Given the description of an element on the screen output the (x, y) to click on. 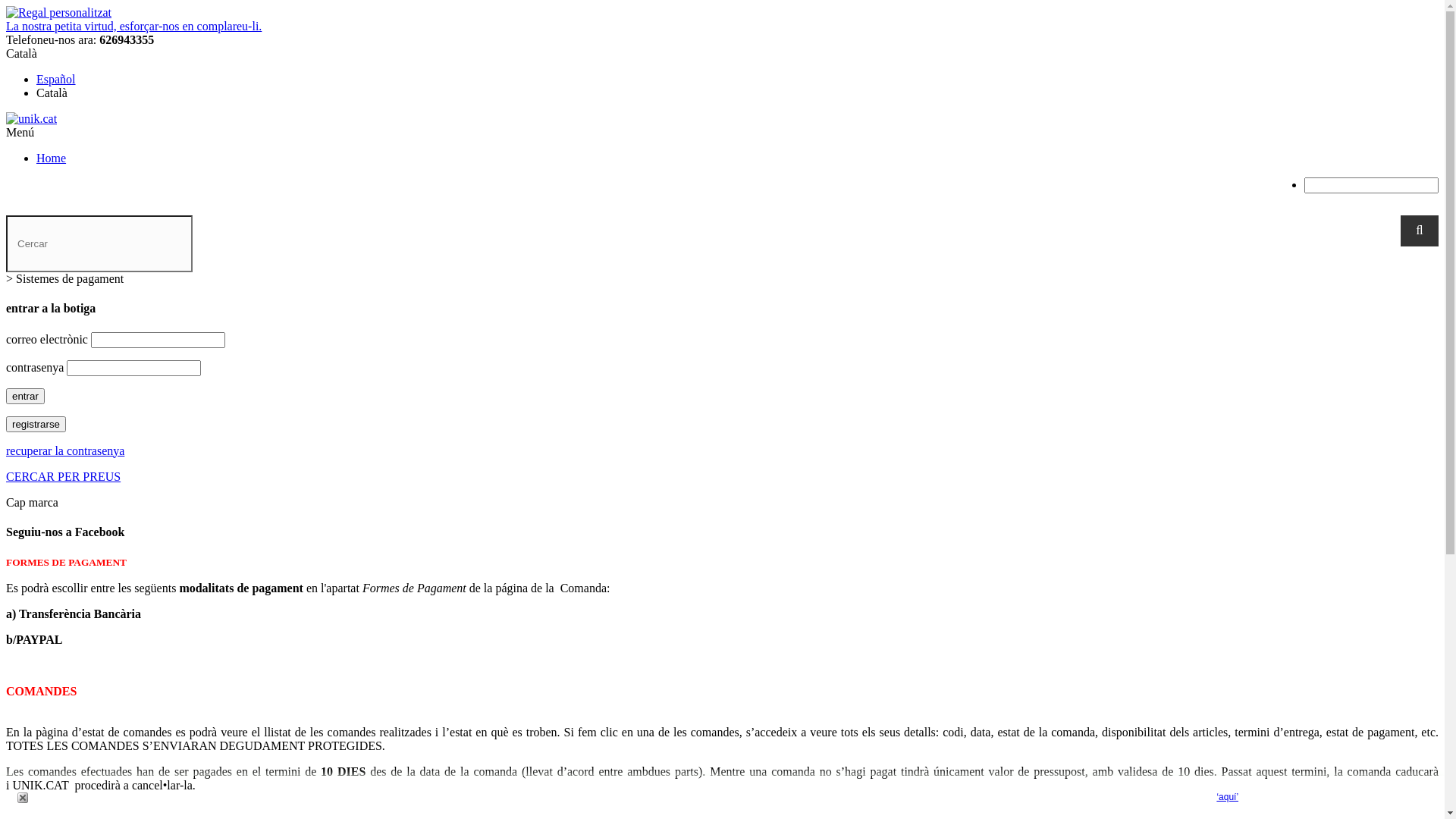
Regal personalitzat Element type: hover (58, 12)
  Element type: text (22, 797)
registrarse Element type: text (35, 424)
Home Element type: text (50, 157)
recuperar la contrasenya Element type: text (65, 450)
Close Element type: hover (22, 797)
unik.cat Element type: hover (31, 118)
CERCAR PER PREUS Element type: text (63, 476)
Regal personalitzat Element type: hover (58, 12)
entrar Element type: text (25, 396)
